Given the description of an element on the screen output the (x, y) to click on. 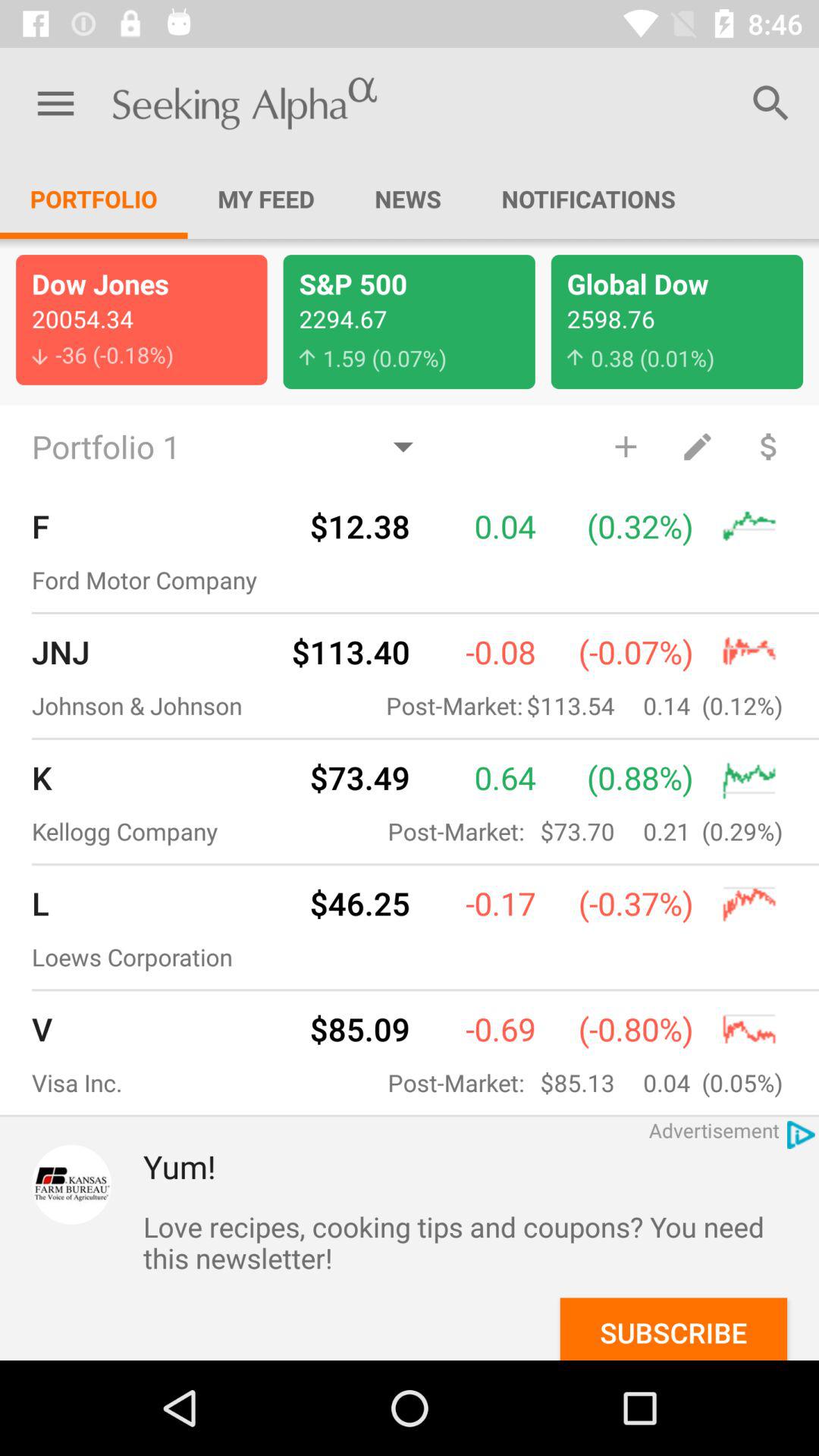
select item next to yum! item (71, 1184)
